Given the description of an element on the screen output the (x, y) to click on. 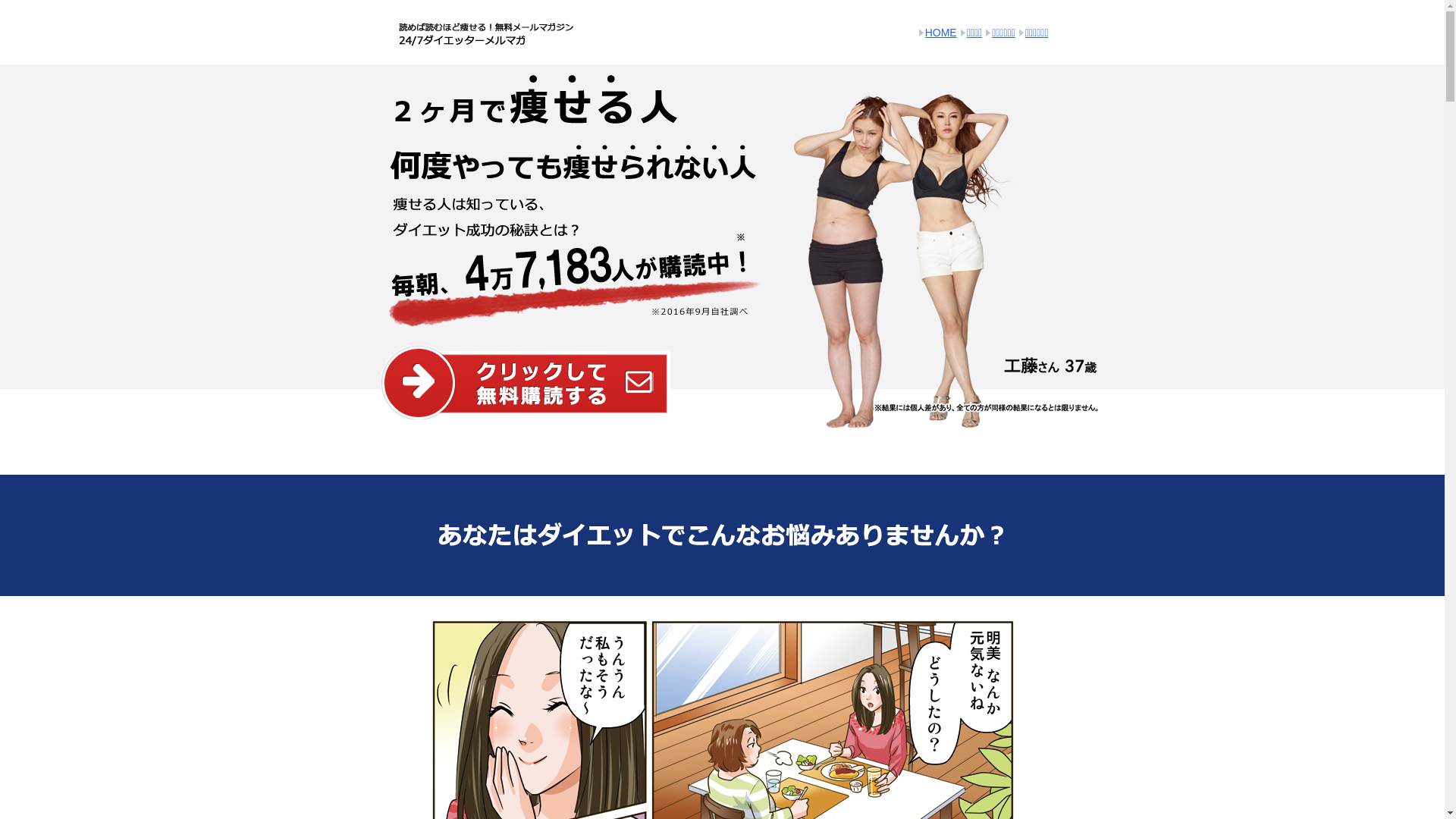
HOME Element type: text (941, 32)
